Given the description of an element on the screen output the (x, y) to click on. 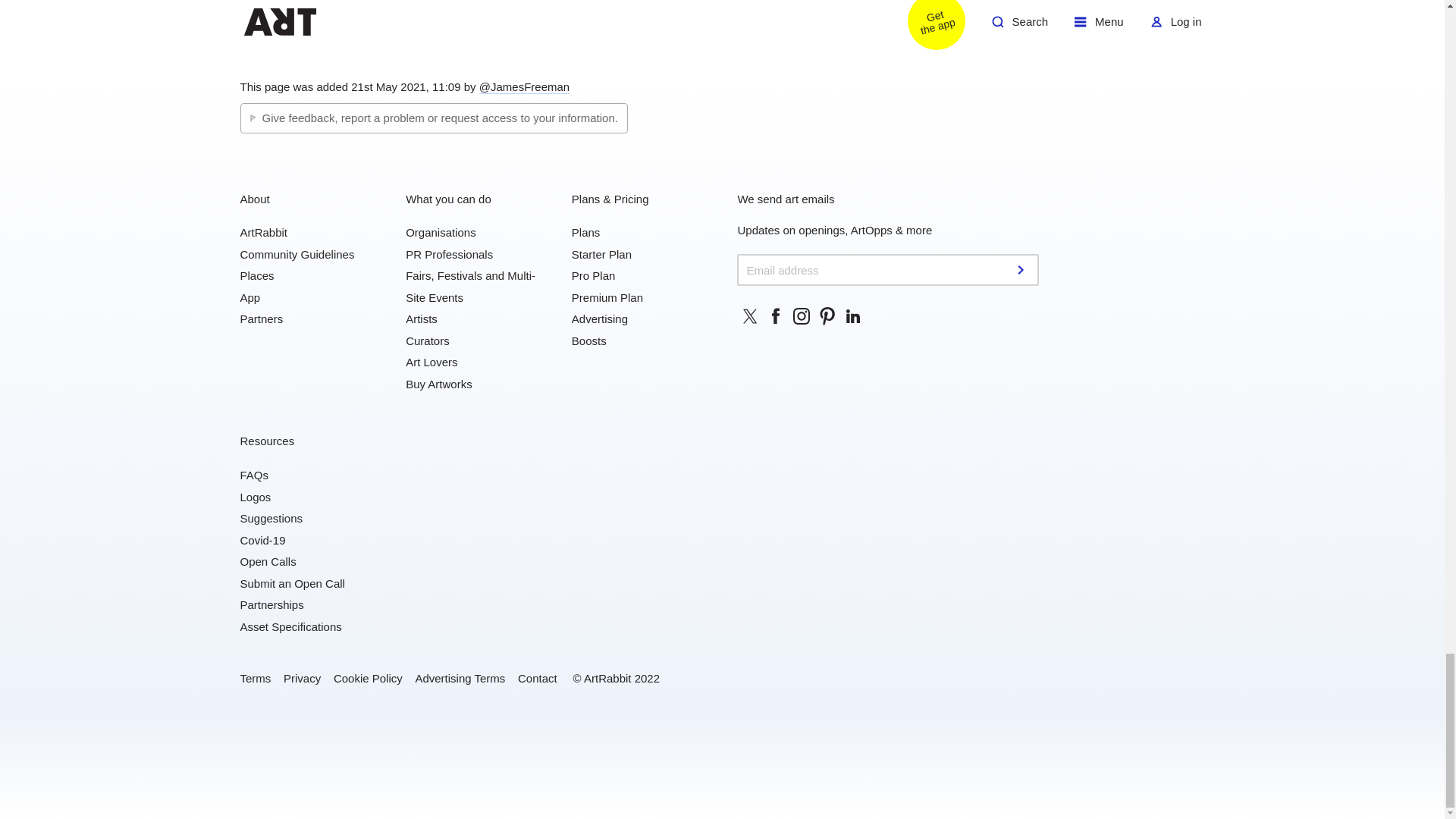
submit (1021, 269)
